Given the description of an element on the screen output the (x, y) to click on. 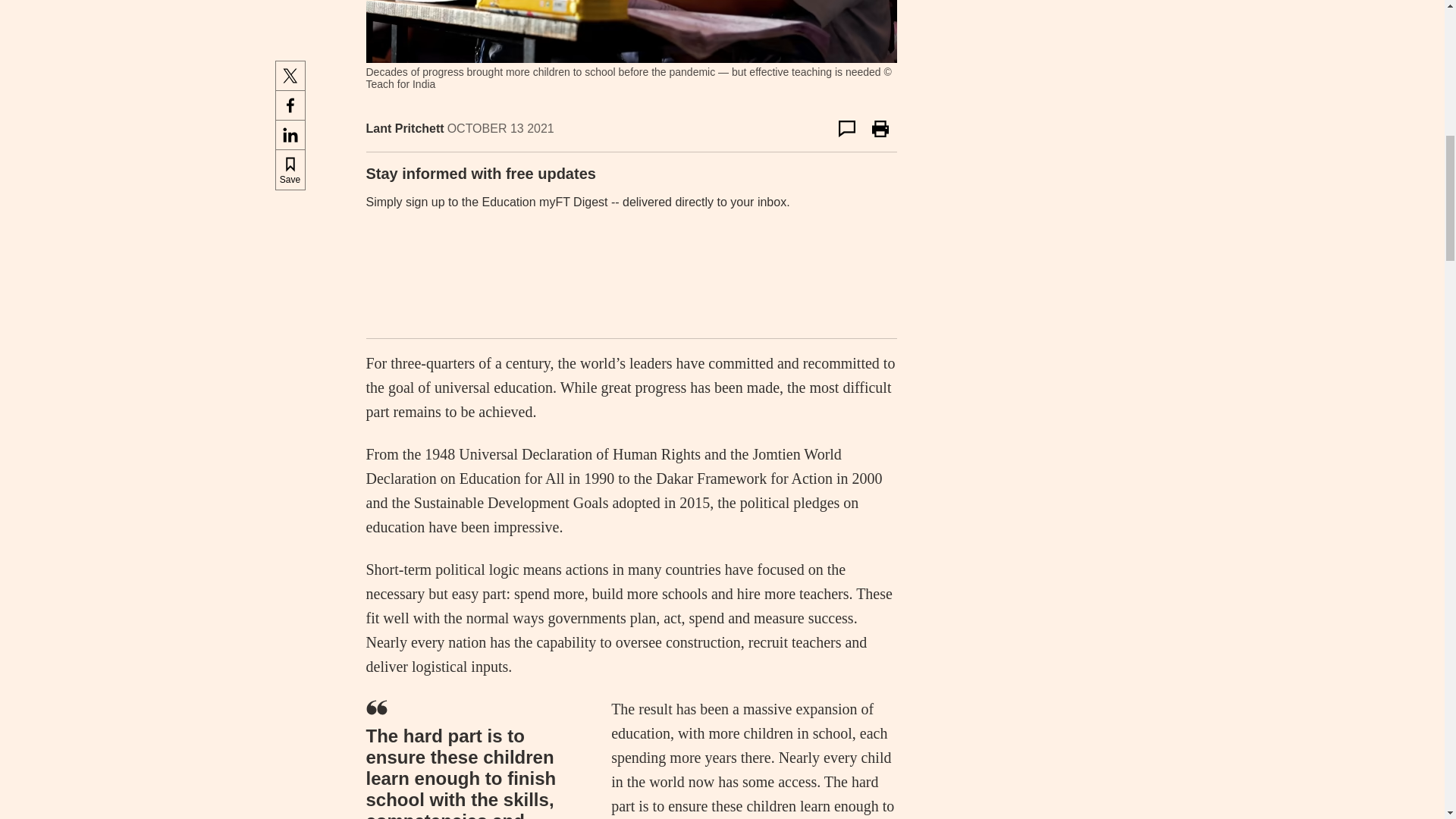
Print this page (879, 128)
October 13 2021 11:00 am (500, 128)
Jump to comments section (846, 128)
